Given the description of an element on the screen output the (x, y) to click on. 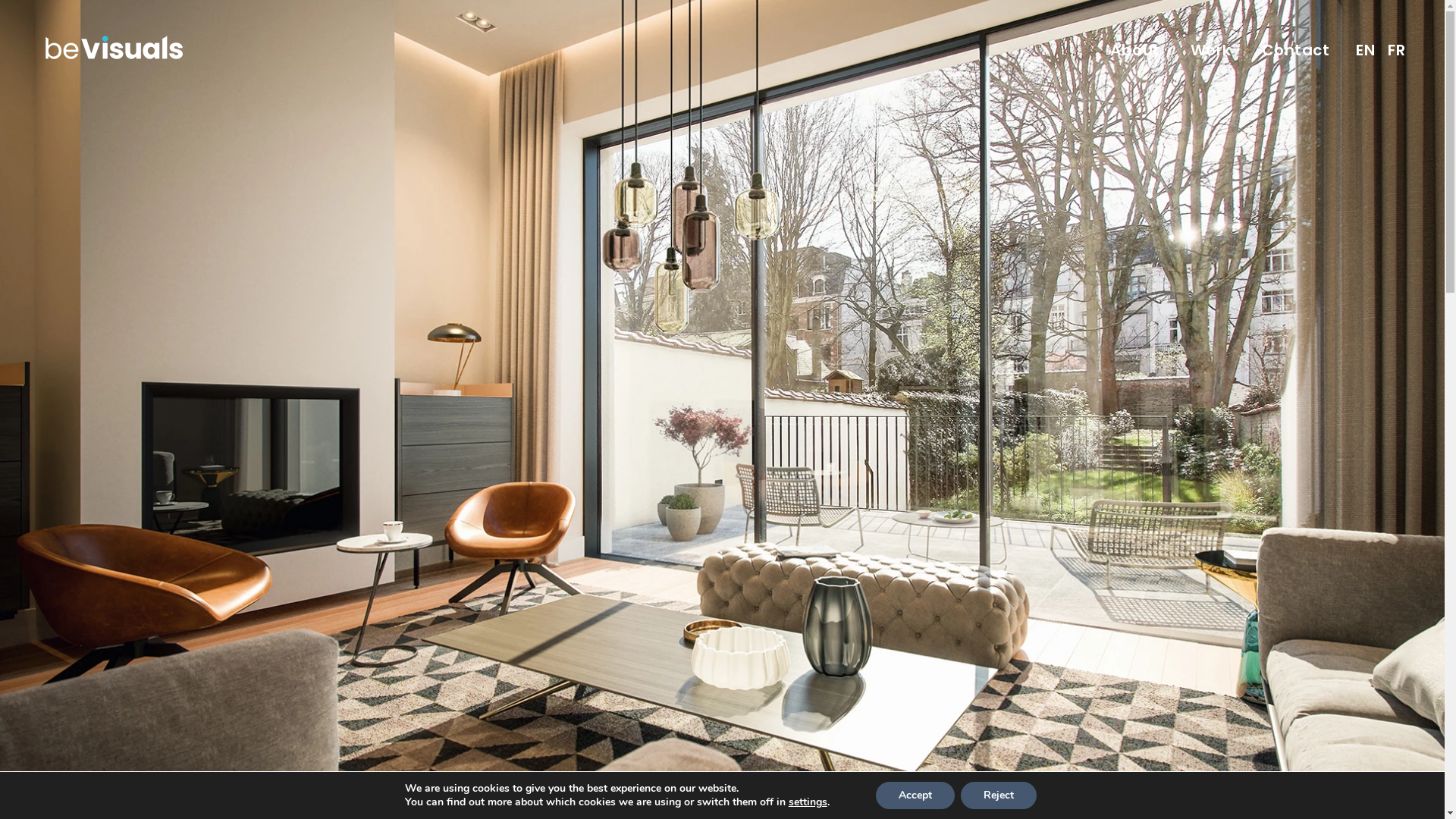
About Element type: text (1135, 48)
Accept Element type: text (914, 795)
settings Element type: text (807, 802)
Reject Element type: text (998, 795)
Contact Element type: text (1295, 48)
FR Element type: text (1396, 48)
Work Element type: text (1210, 48)
EN Element type: text (1364, 48)
